Given the description of an element on the screen output the (x, y) to click on. 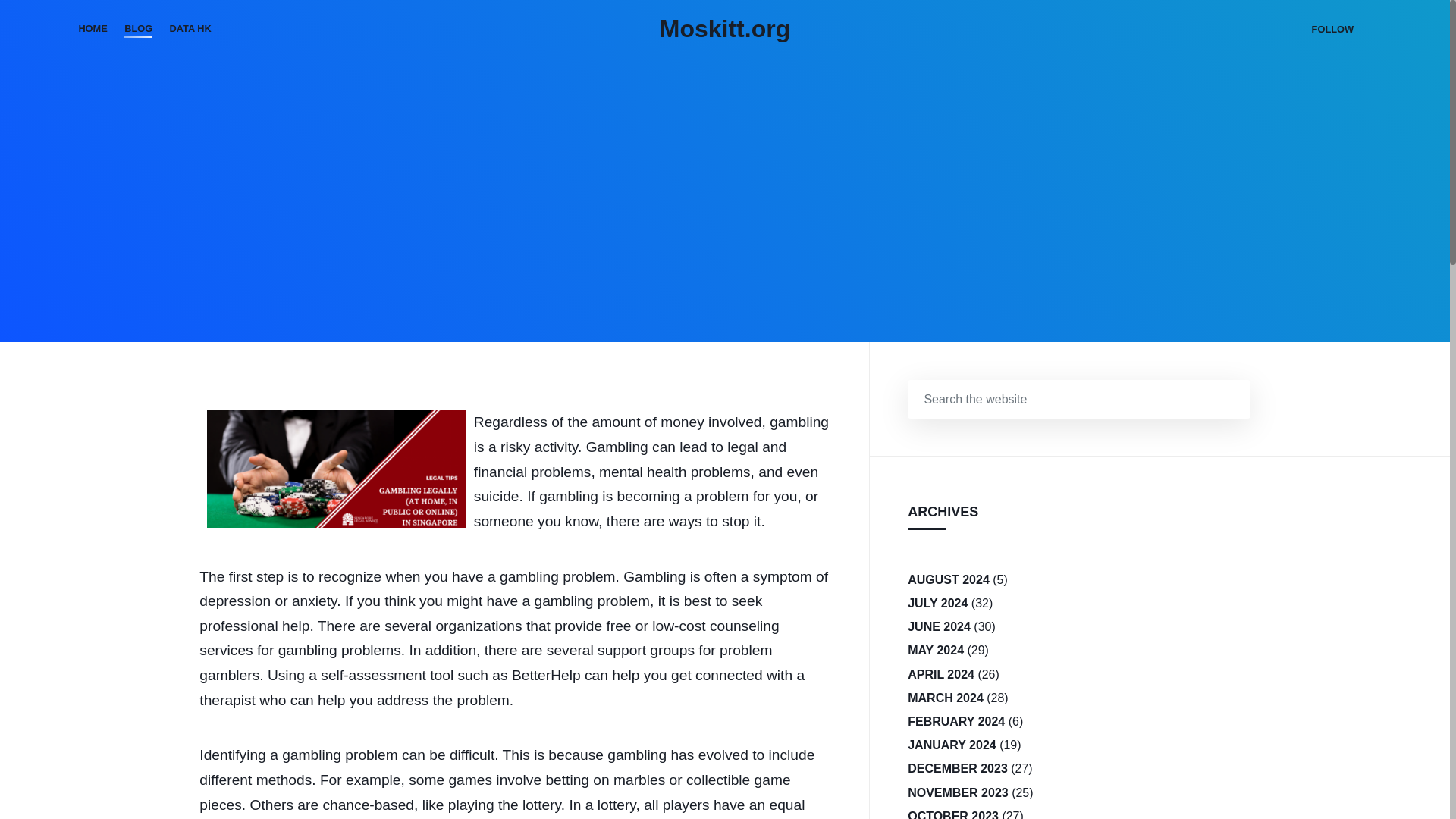
OCTOBER 2023 (952, 811)
HOME (92, 28)
Moskitt.org (724, 28)
AUGUST 2024 (948, 579)
DATA HK (189, 28)
FEBRUARY 2024 (955, 721)
JUNE 2024 (939, 626)
MARCH 2024 (945, 698)
Home (92, 28)
SEARCH (1231, 398)
NOVEMBER 2023 (958, 792)
Blog (138, 28)
MAY 2024 (935, 649)
JULY 2024 (937, 603)
FOLLOW (1332, 29)
